Given the description of an element on the screen output the (x, y) to click on. 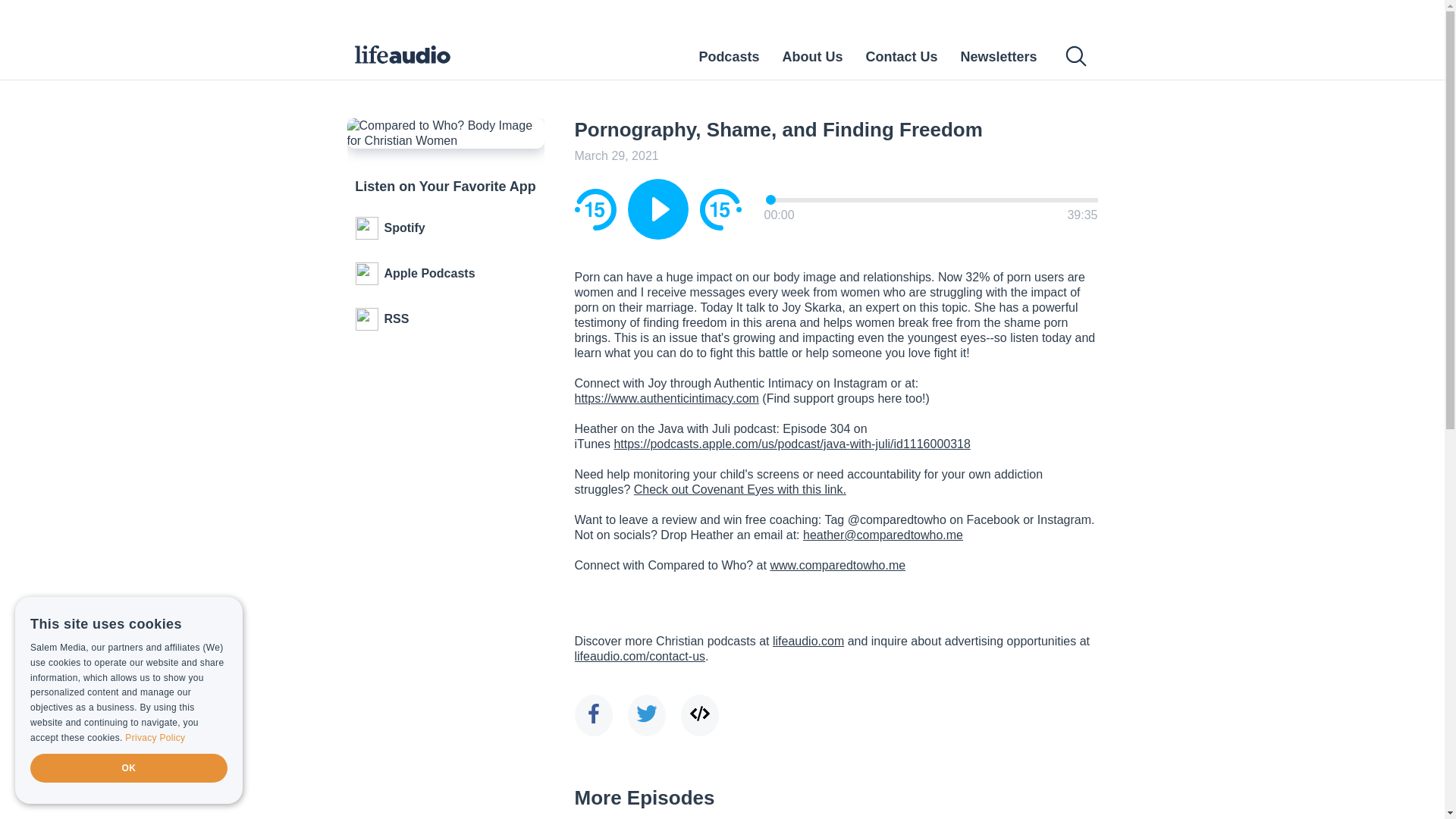
Contact Us (900, 56)
Compared to Who? Body Image for Christian Women (445, 132)
www.comparedtowho.me (837, 564)
Check out Covenant Eyes with this link. (739, 489)
Newsletters (997, 56)
RSS (445, 319)
RSS feed (445, 319)
About Us (812, 56)
0.01 (932, 199)
lifeaudio.com (808, 640)
Podcasts (728, 56)
Apple Podcasts (445, 273)
Spotify (445, 228)
